Given the description of an element on the screen output the (x, y) to click on. 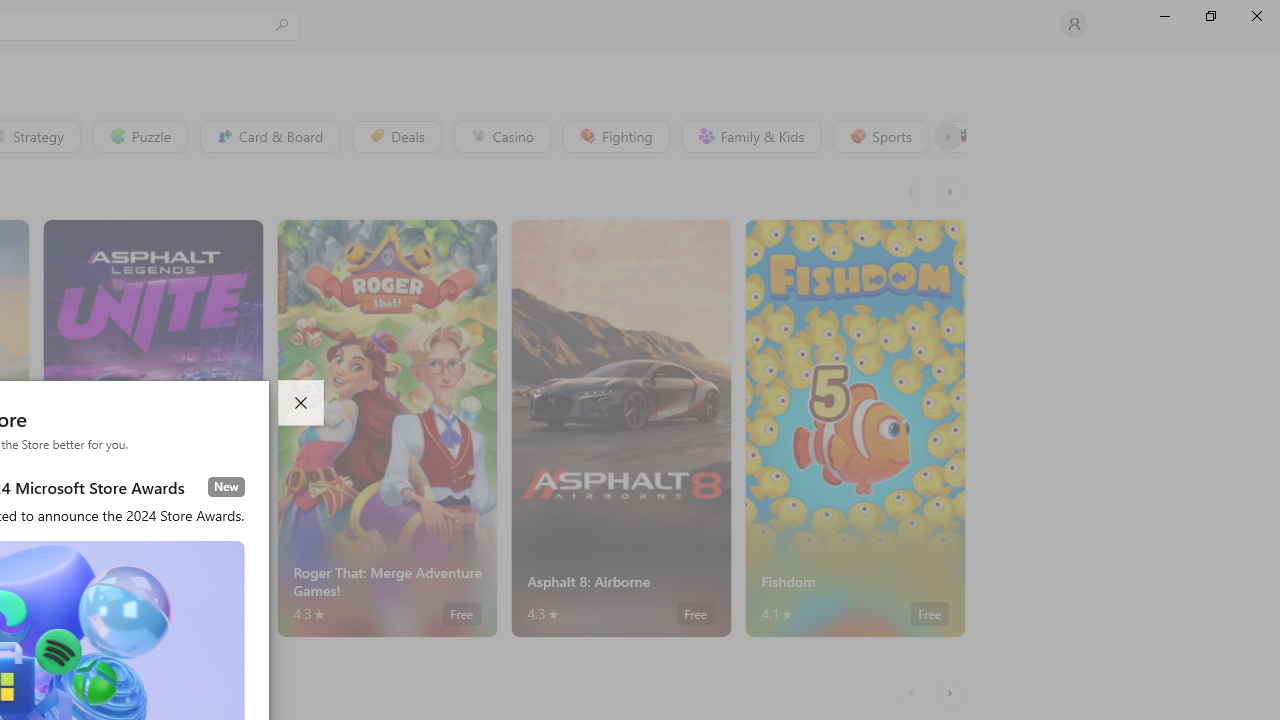
Sports (879, 136)
Platformer (952, 136)
